Given the description of an element on the screen output the (x, y) to click on. 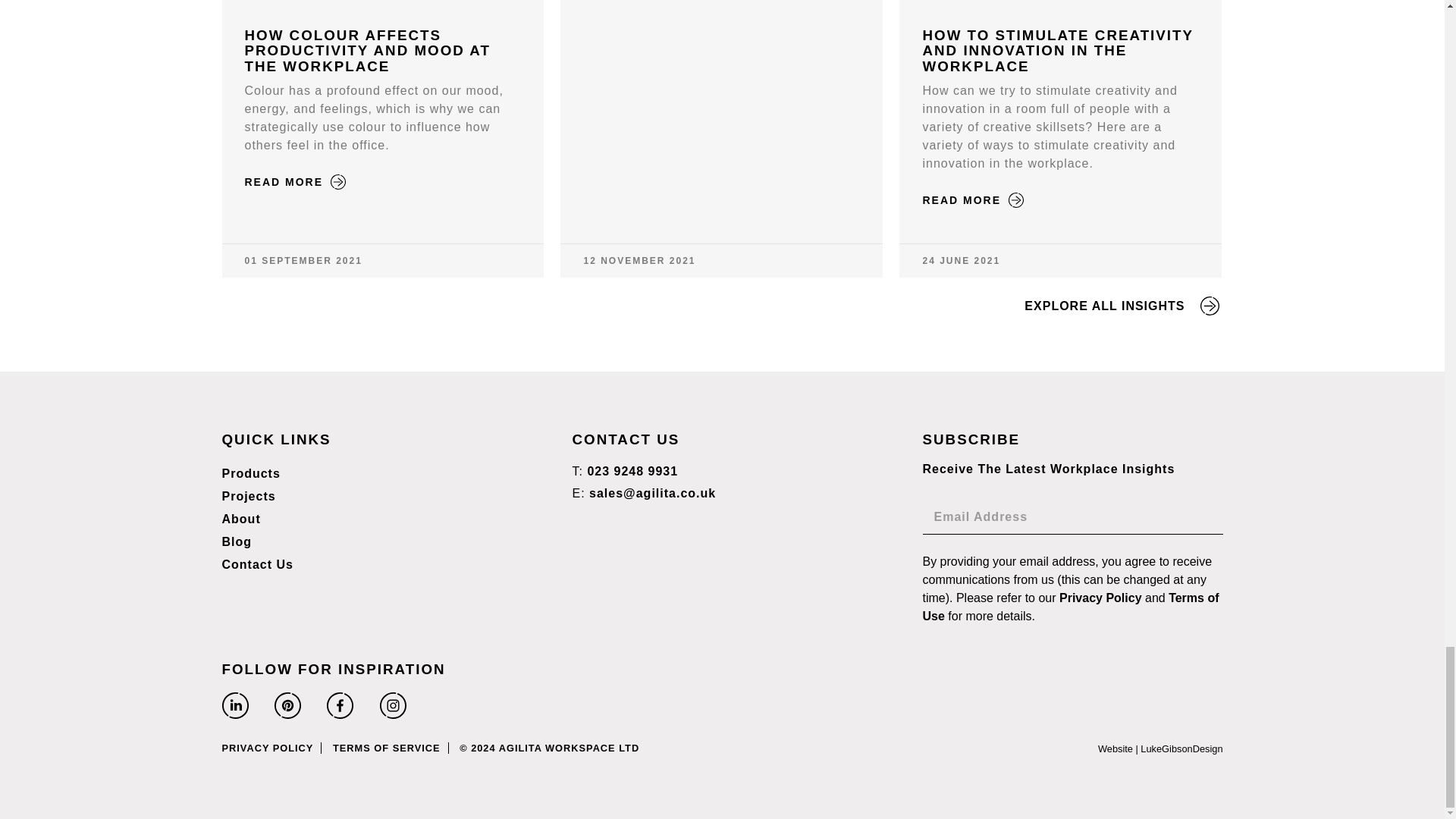
Terms of Service (1069, 606)
Products (250, 473)
Contact Us (256, 564)
Blog (236, 541)
Projects (248, 496)
Privacy Policy (1100, 597)
T: 023 9248 9931 (625, 471)
About (240, 518)
